Given the description of an element on the screen output the (x, y) to click on. 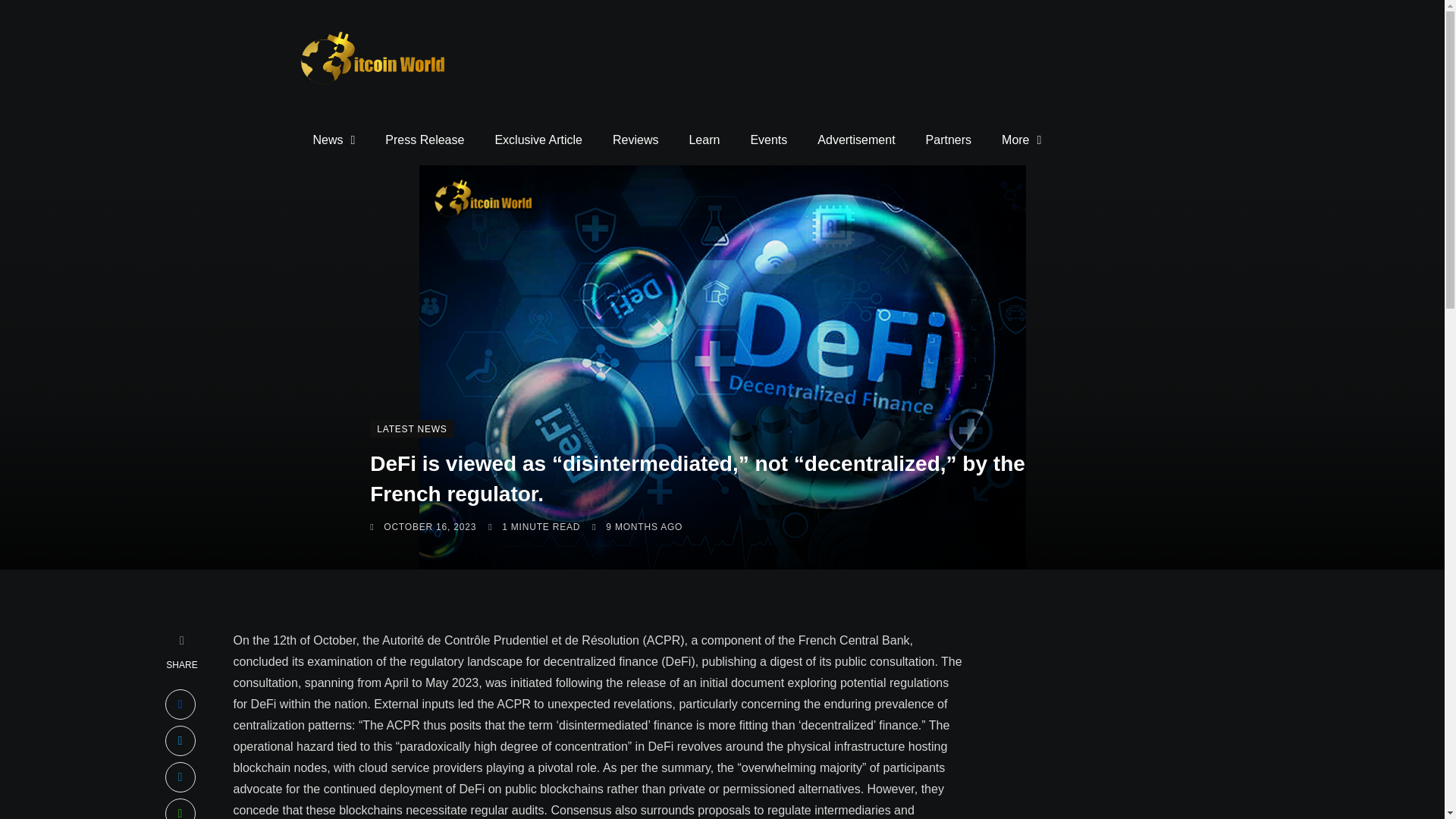
LATEST NEWS (410, 427)
Learn (703, 140)
Press Release (424, 140)
Reviews (634, 140)
News (333, 140)
Advertisement (856, 140)
Partners (949, 140)
Exclusive Article (537, 140)
More (1022, 140)
Events (768, 140)
